Given the description of an element on the screen output the (x, y) to click on. 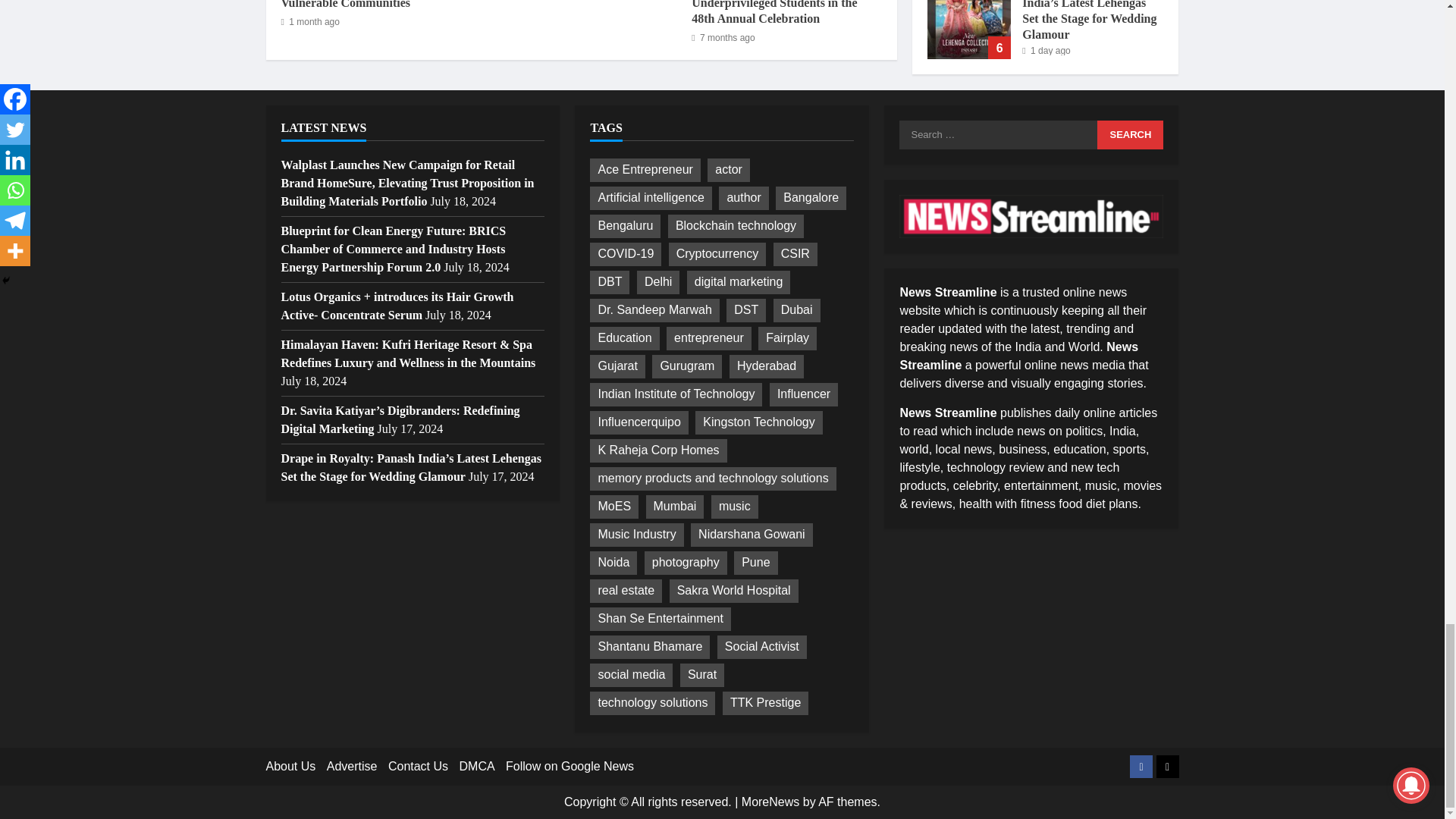
Search (1130, 134)
Search (1130, 134)
